Given the description of an element on the screen output the (x, y) to click on. 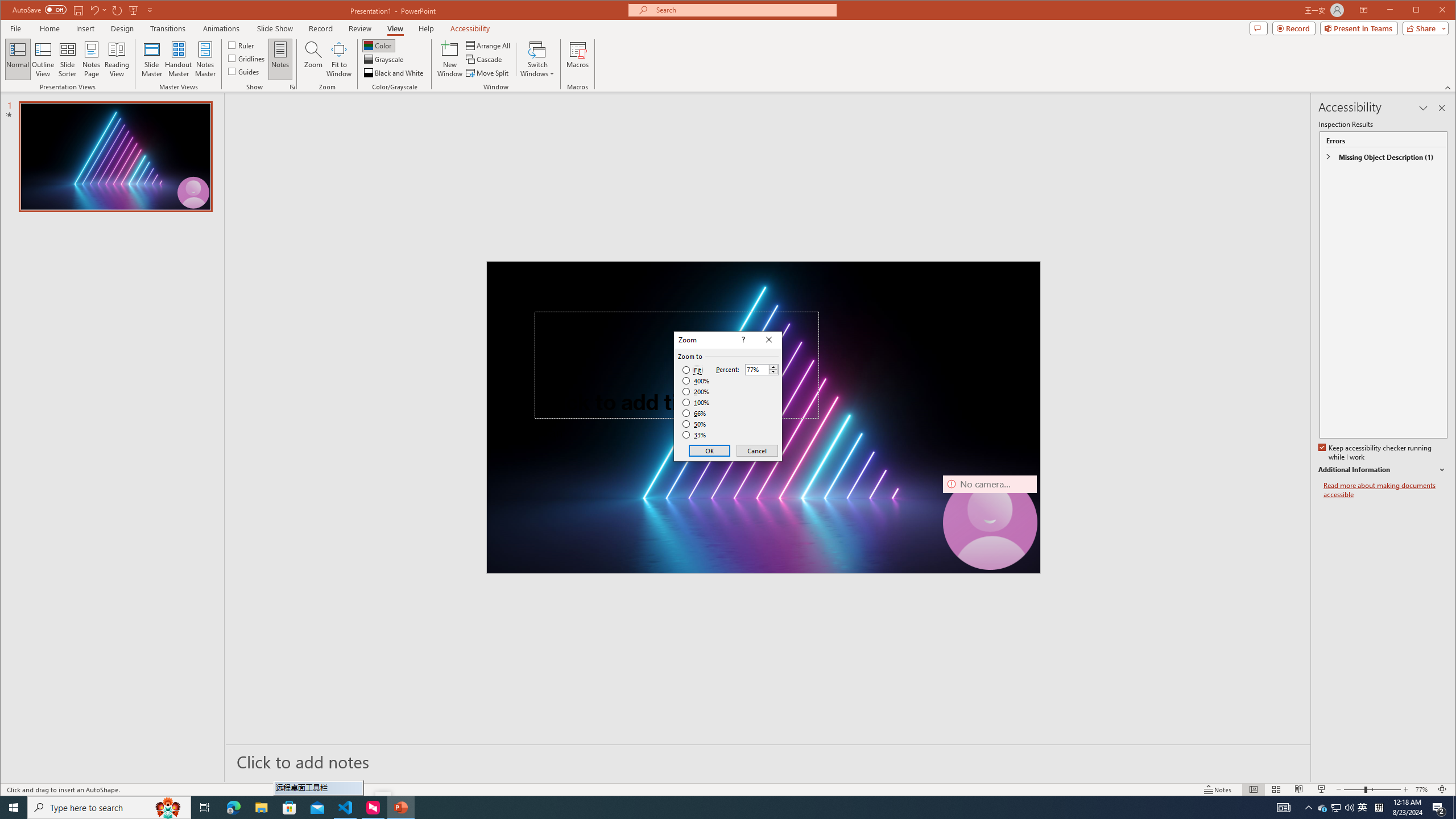
Notes (279, 59)
Additional Information (1382, 469)
Context help (742, 339)
Zoom... (312, 59)
Gridlines (246, 57)
Cancel (756, 450)
Macros (576, 59)
